Given the description of an element on the screen output the (x, y) to click on. 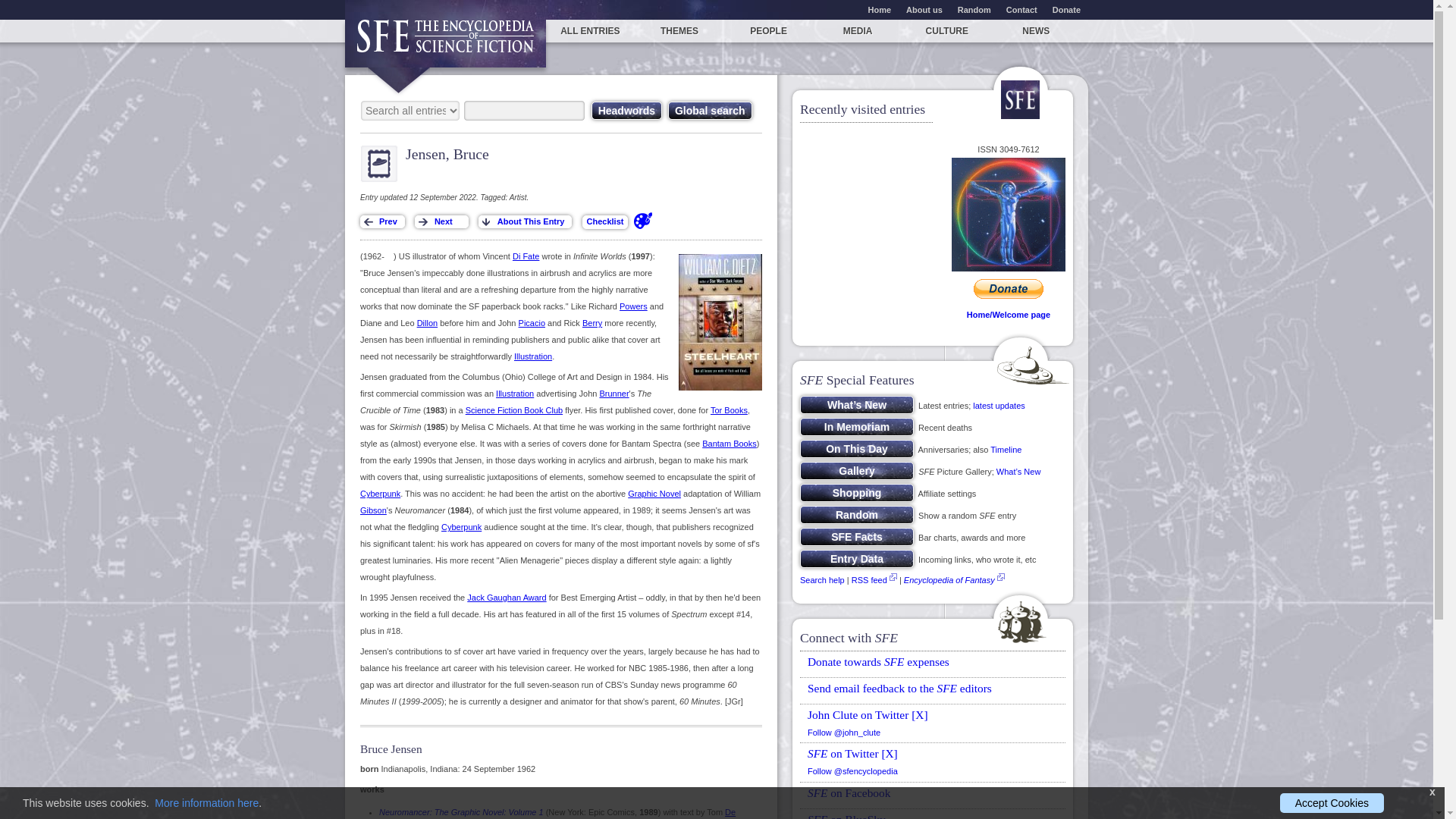
Home page (445, 43)
In Memoriam (856, 426)
Bantam Books (729, 442)
About This Entry (525, 221)
Berry (592, 322)
Powers (633, 306)
De Haven (556, 813)
Home (879, 9)
Entry Data (856, 558)
Tor Books (729, 409)
Headwords (626, 110)
Gallery (856, 470)
About us (924, 9)
Contact (1021, 9)
Next (441, 221)
